Given the description of an element on the screen output the (x, y) to click on. 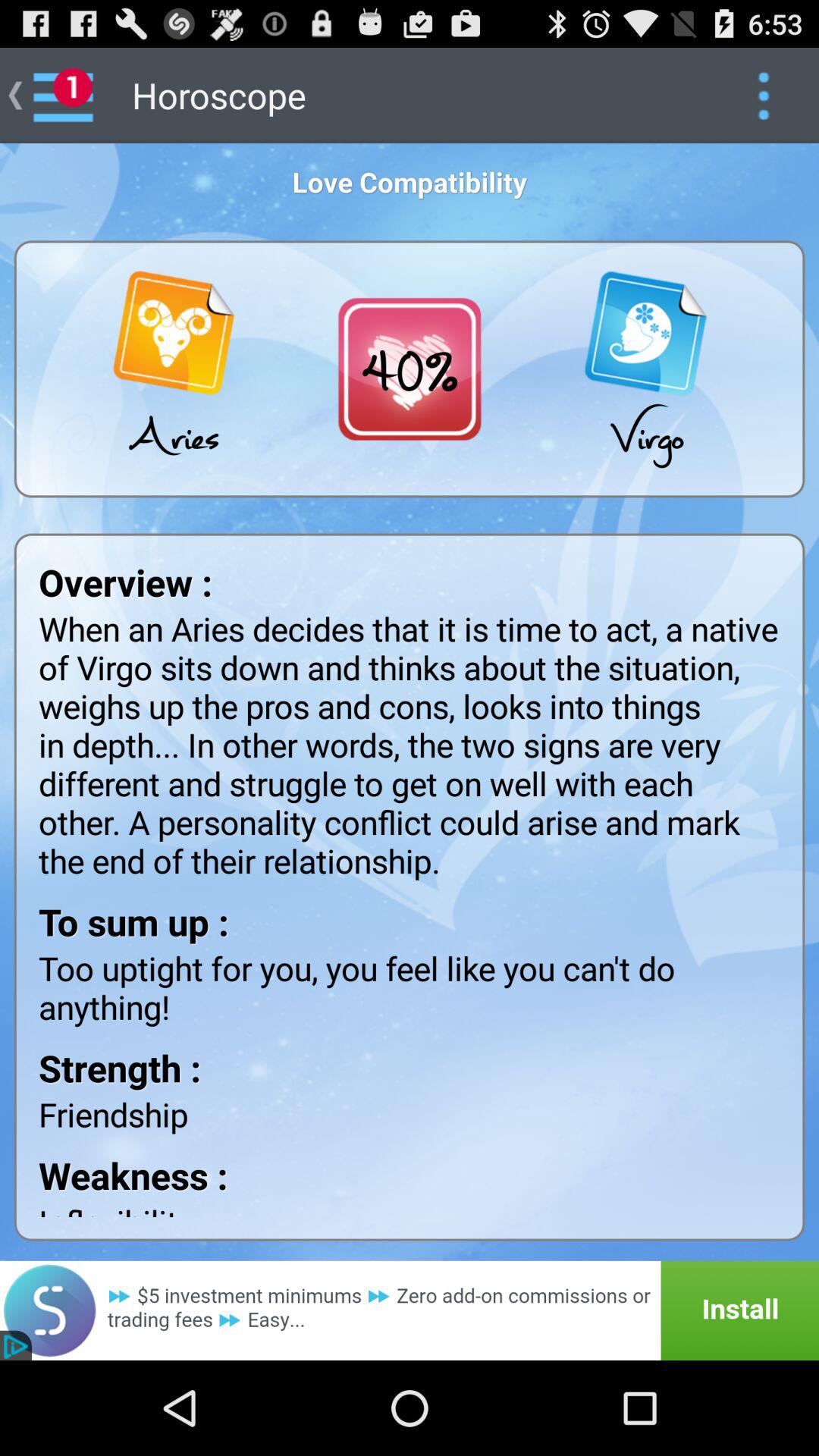
advertisement (409, 1310)
